Given the description of an element on the screen output the (x, y) to click on. 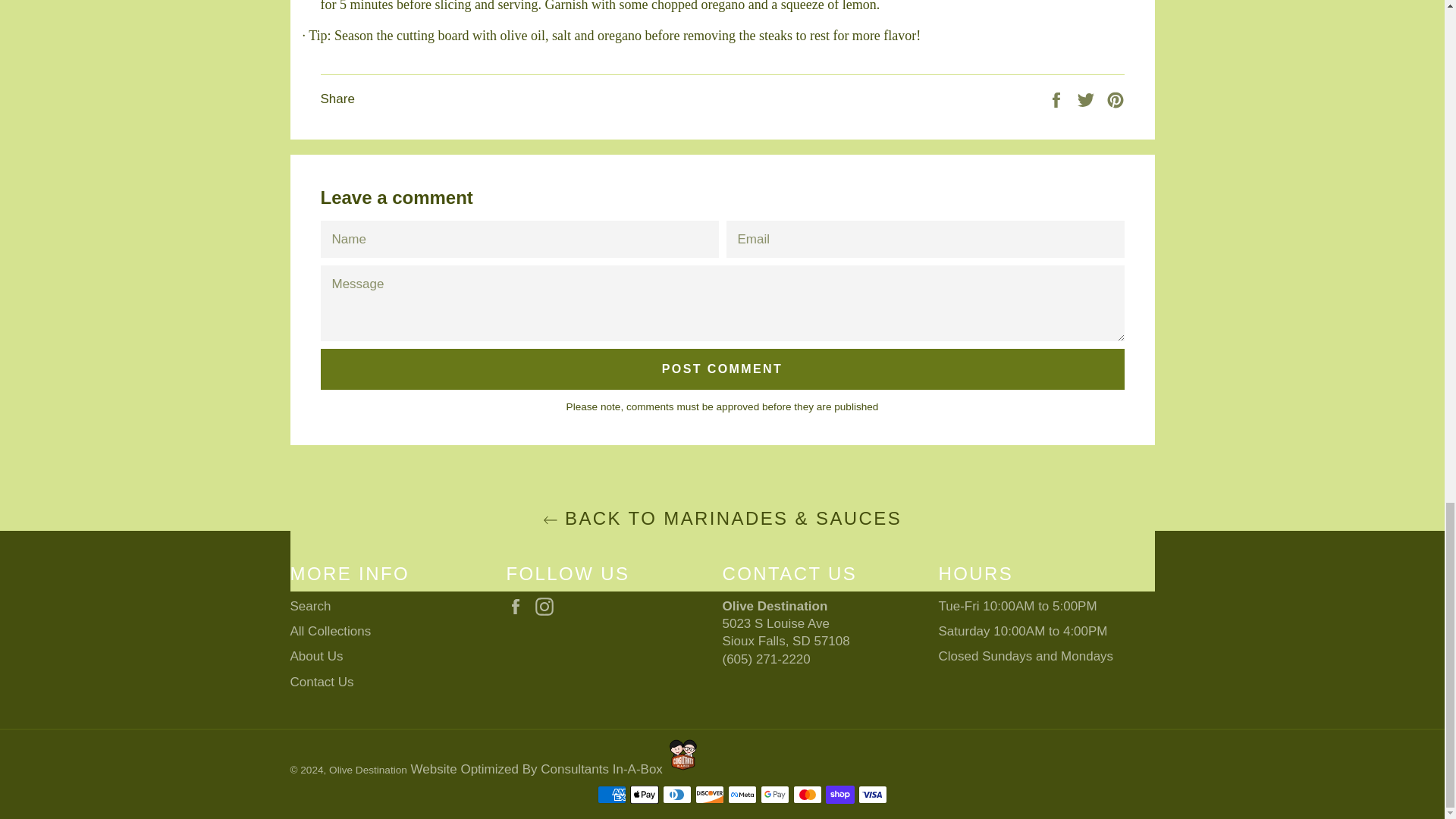
Olive Destination on Facebook (519, 606)
Pin on Pinterest (1114, 98)
Tweet on Twitter (1088, 98)
Olive Destination on Instagram (547, 606)
Post comment (722, 368)
tel: 605 271-2220 (765, 658)
Share on Facebook (1057, 98)
